Given the description of an element on the screen output the (x, y) to click on. 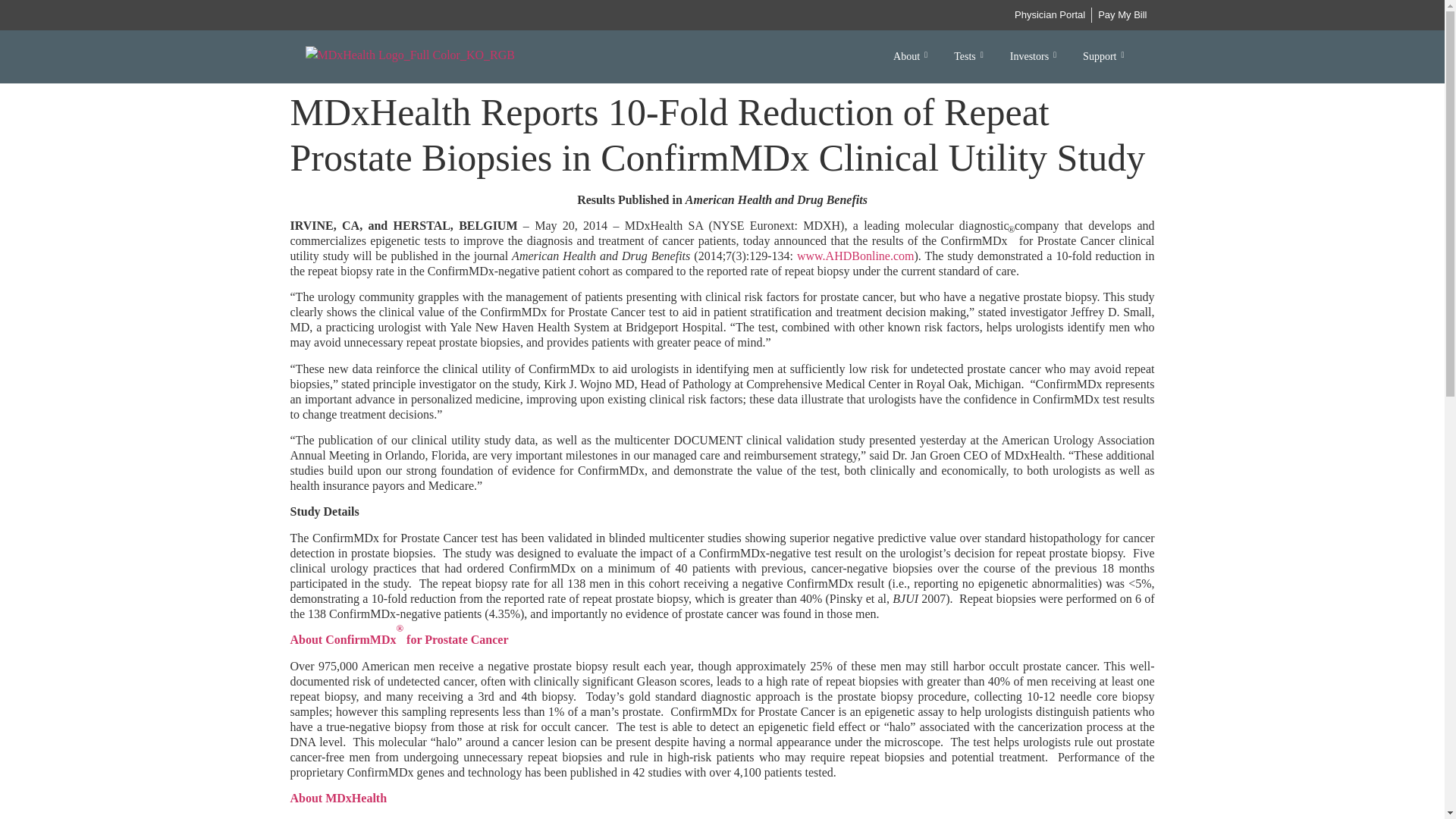
Physician Portal (1049, 14)
Investors (1034, 56)
Tests (970, 56)
About (912, 56)
www.AHDBonline.com (855, 255)
About MDxHealth (338, 797)
Pay My Bill (1122, 14)
